Given the description of an element on the screen output the (x, y) to click on. 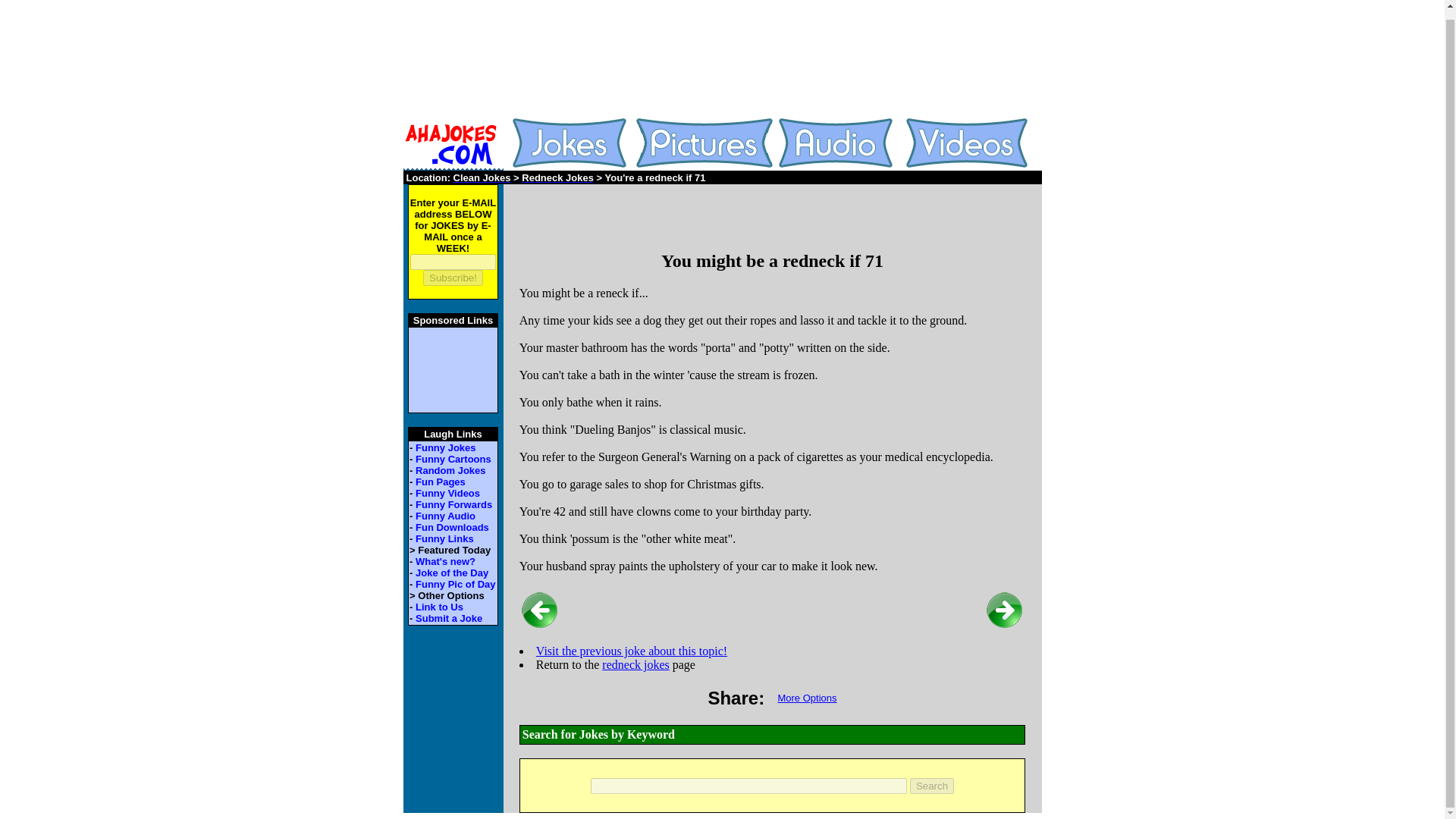
Funny Forwards (453, 504)
Funny Pic of Day (454, 583)
Submit a Joke (447, 618)
Redneck Jokes (557, 177)
Funny Videos (447, 492)
Search (931, 785)
What's new? (445, 561)
More Options (806, 697)
Fun Downloads (451, 527)
Joke of the Day (450, 572)
